Given the description of an element on the screen output the (x, y) to click on. 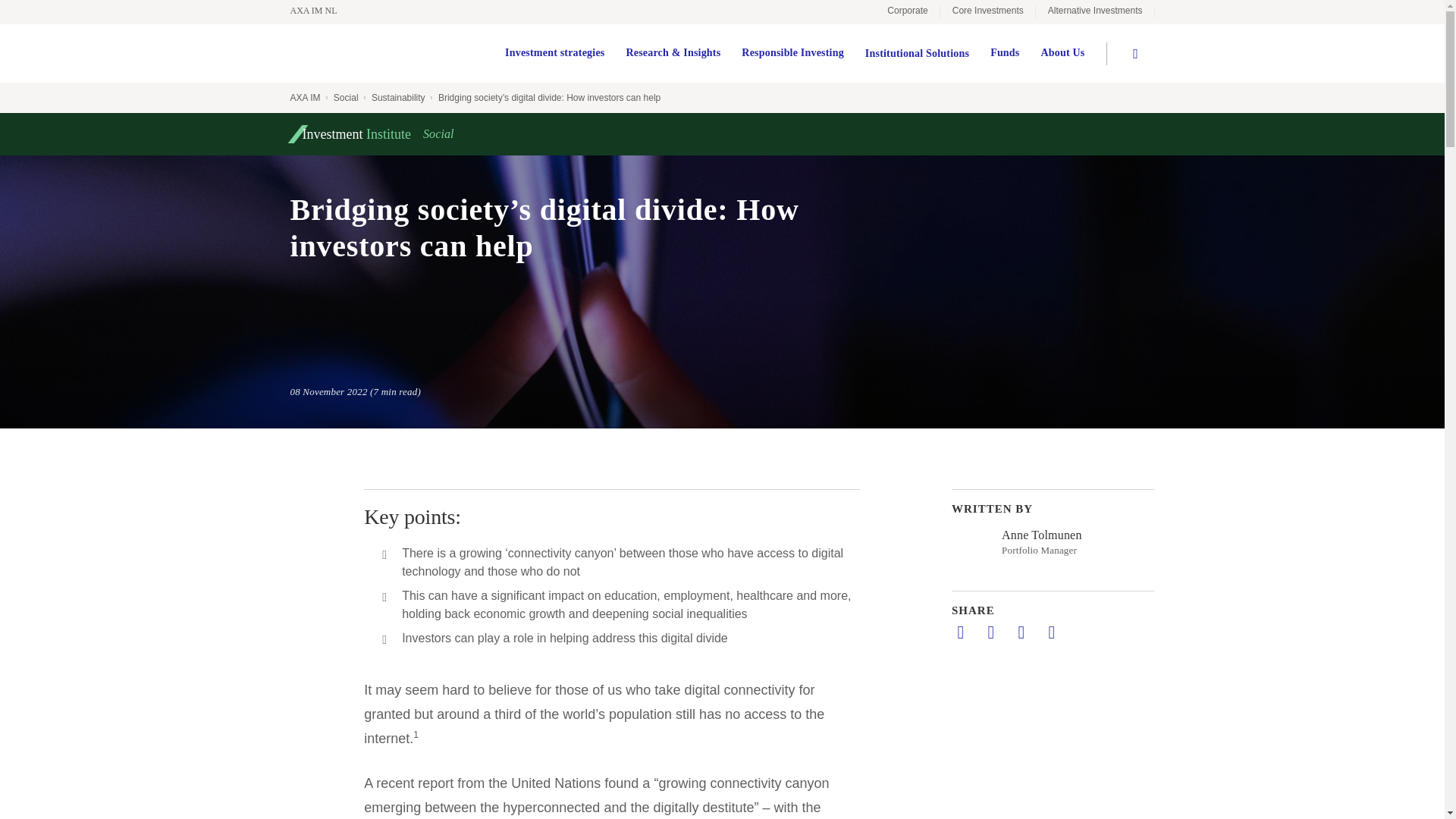
Copy URL (1051, 632)
AXA IM NL (320, 10)
Investment strategies (554, 53)
Responsible Investing (792, 53)
Corporate (907, 12)
Share on LinkedIn (960, 632)
Alternative Investments (1094, 12)
Shared by mail (1020, 632)
Core Investments (987, 12)
Share on twitter (990, 632)
